Given the description of an element on the screen output the (x, y) to click on. 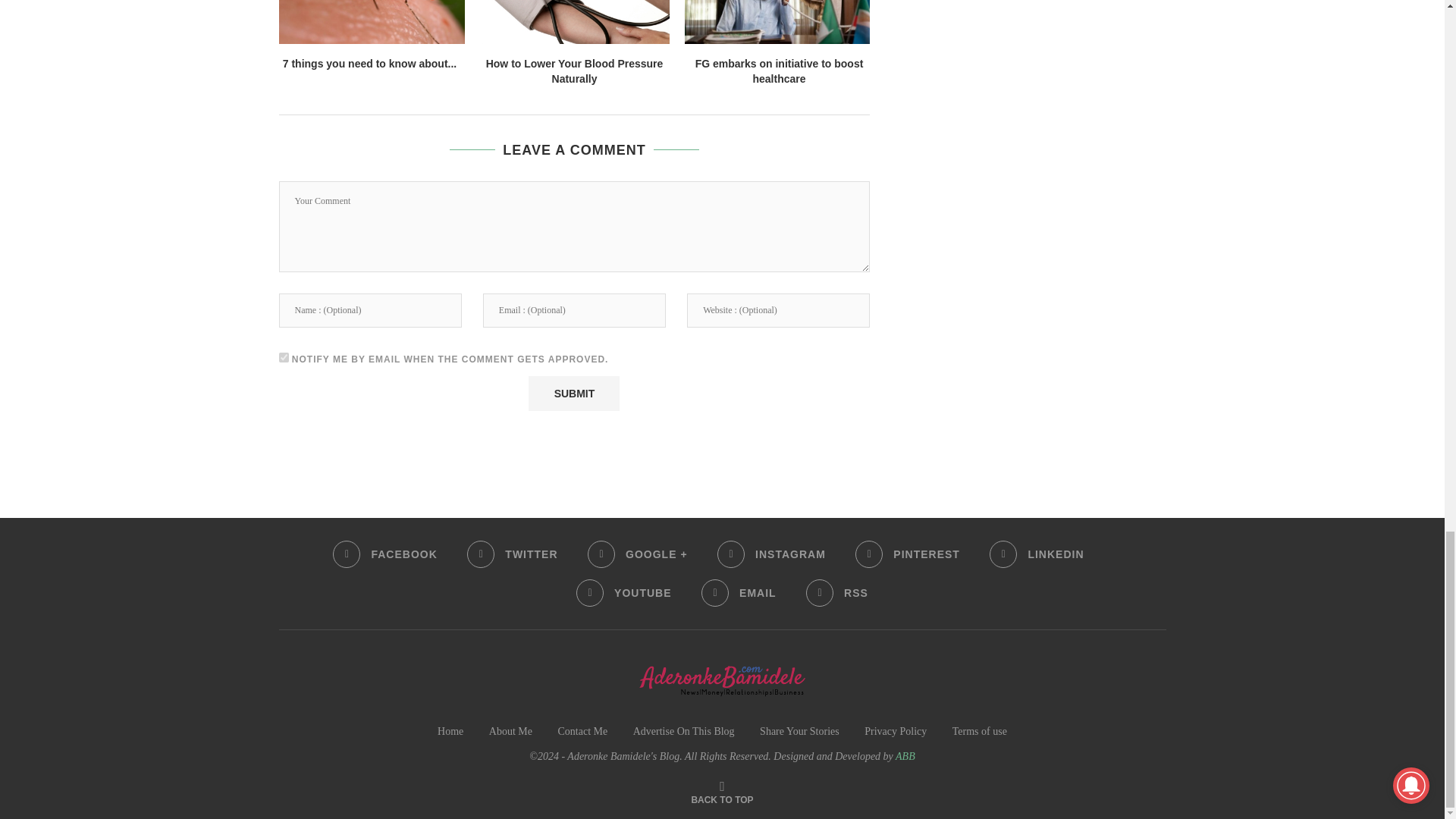
Submit (574, 393)
1 (283, 357)
